Given the description of an element on the screen output the (x, y) to click on. 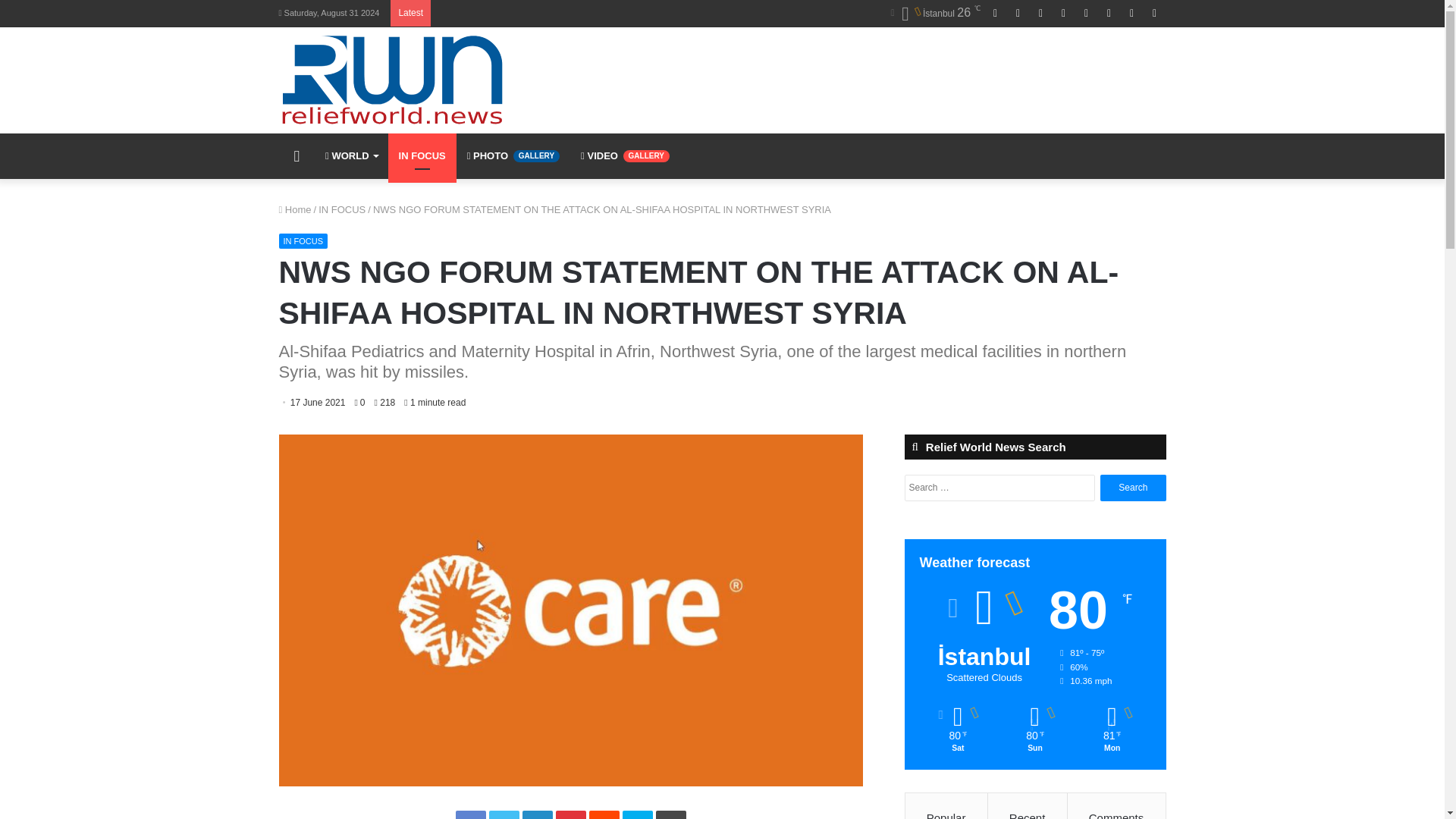
Twitter (502, 814)
Search (1133, 488)
LinkedIn (536, 814)
Pinterest (569, 814)
IN FOCUS (304, 240)
Reddit (603, 814)
Skype (636, 814)
Scattered Clouds (933, 13)
Search (1133, 488)
WORLD (350, 156)
